Given the description of an element on the screen output the (x, y) to click on. 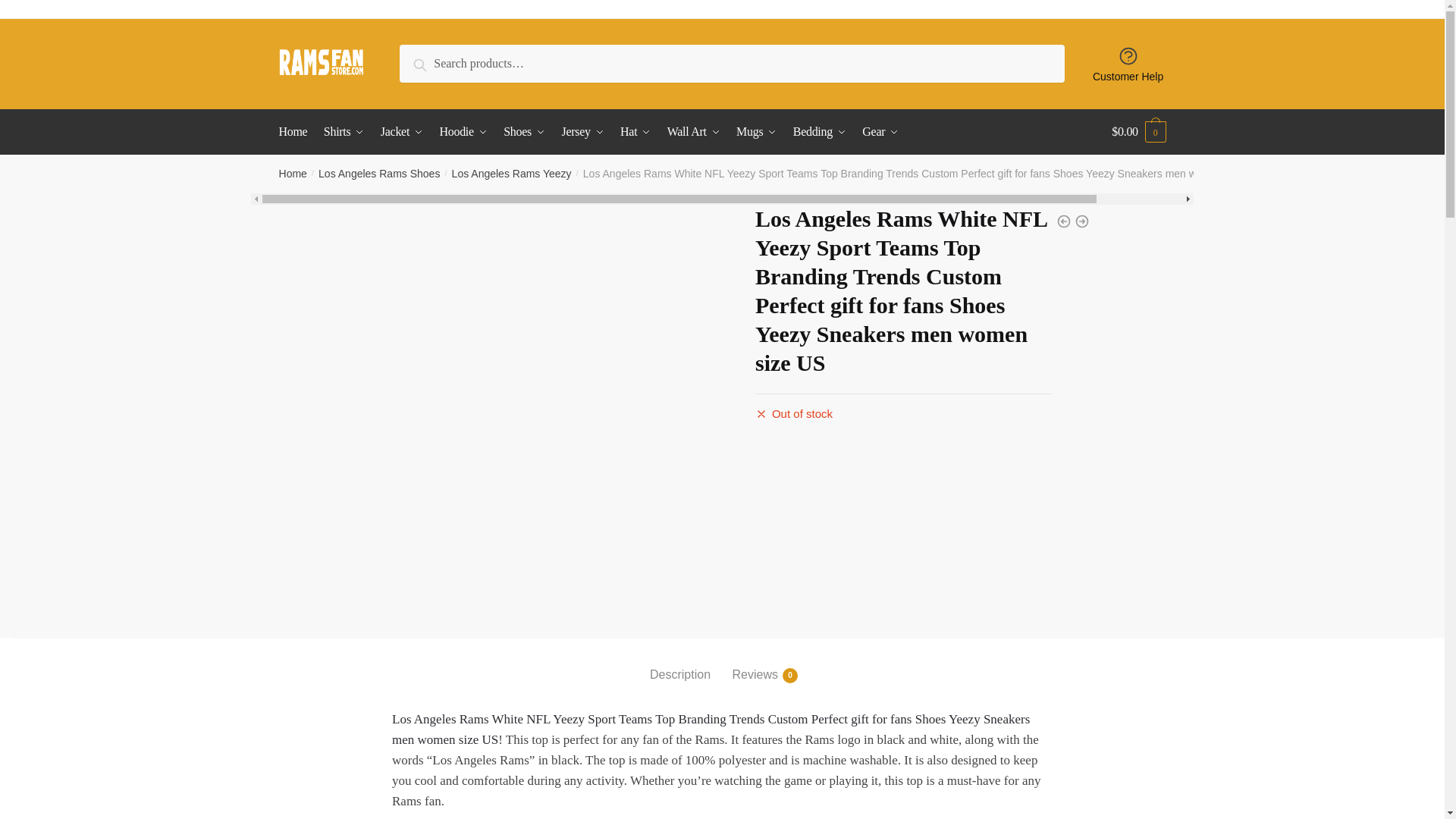
Shirts (344, 131)
Hoodie (463, 131)
View your shopping cart (1139, 131)
Customer Help (1128, 63)
Jersey (582, 131)
Jacket (401, 131)
Shoes (524, 131)
Search (433, 62)
